Given the description of an element on the screen output the (x, y) to click on. 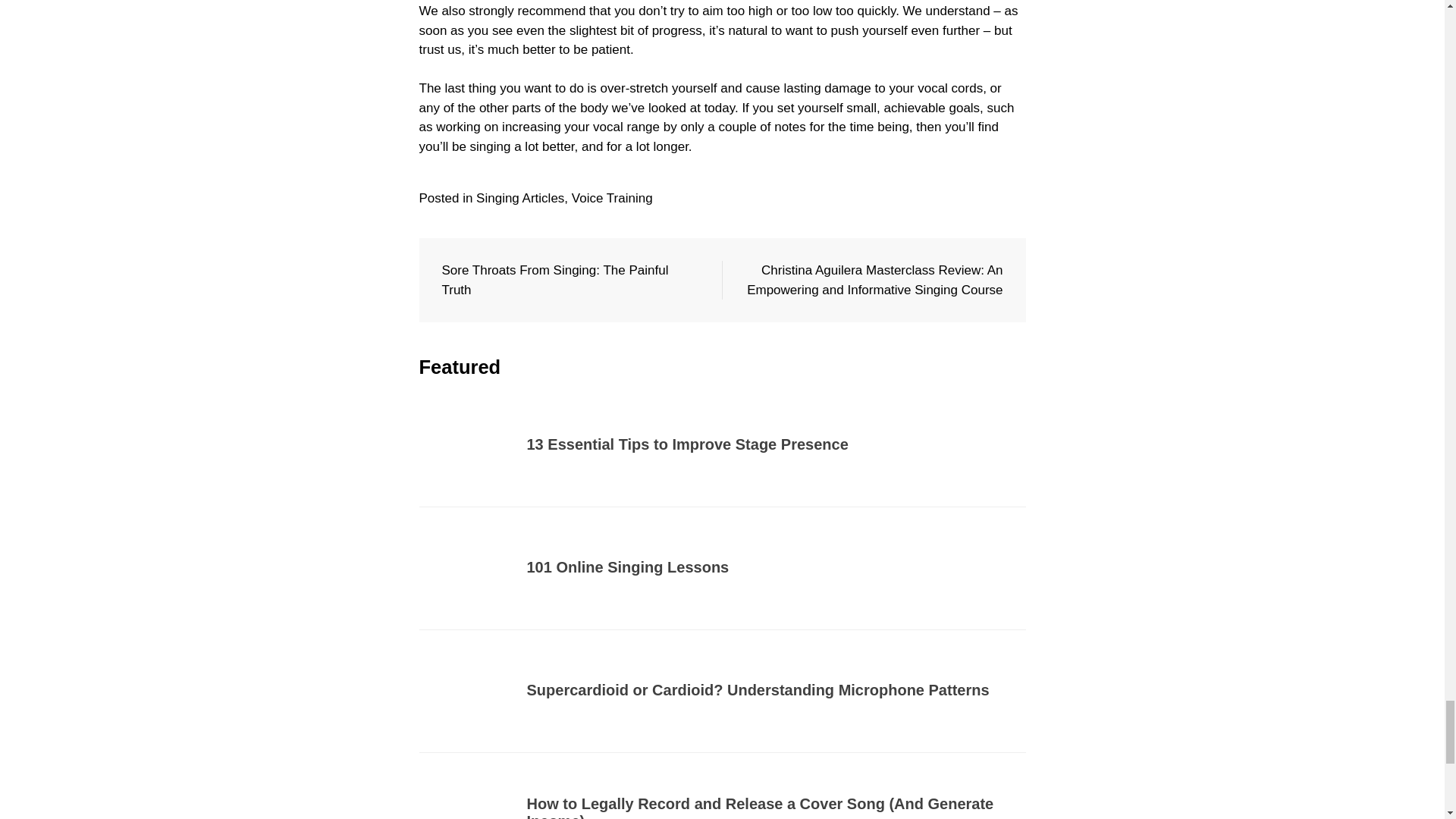
101 Online Singing Lessons (627, 566)
Singing Articles (520, 197)
Voice Training (612, 197)
Sore Throats From Singing: The Painful Truth (554, 279)
13 Essential Tips to Improve Stage Presence (686, 443)
Supercardioid or Cardioid? Understanding Microphone Patterns (756, 689)
